Given the description of an element on the screen output the (x, y) to click on. 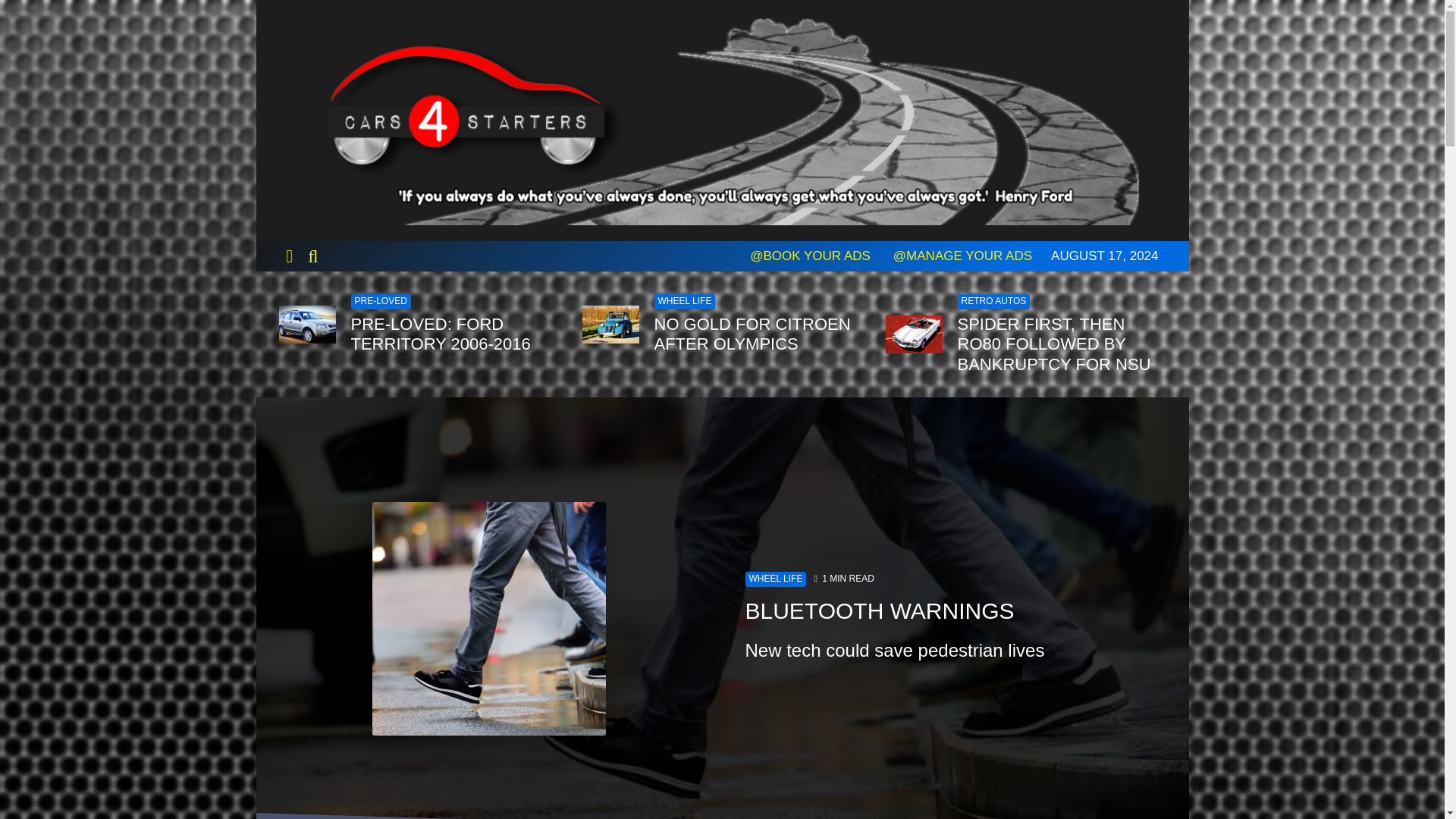
PRE-LOVED: FORD TERRITORY 2006-2016 (454, 334)
Burton-car-company-13 (610, 324)
SPIDER FIRST, THEN RO80 FOLLOWED BY BANKRUPTCY FOR NSU (1061, 344)
WHEEL LIFE (683, 301)
Bluetooth warnings 7 (488, 618)
WHEEL LIFE (775, 579)
NO GOLD FOR CITROEN AFTER OLYMPICS (757, 334)
PRE-LOVED (380, 301)
RETRO AUTOS (992, 301)
